Given the description of an element on the screen output the (x, y) to click on. 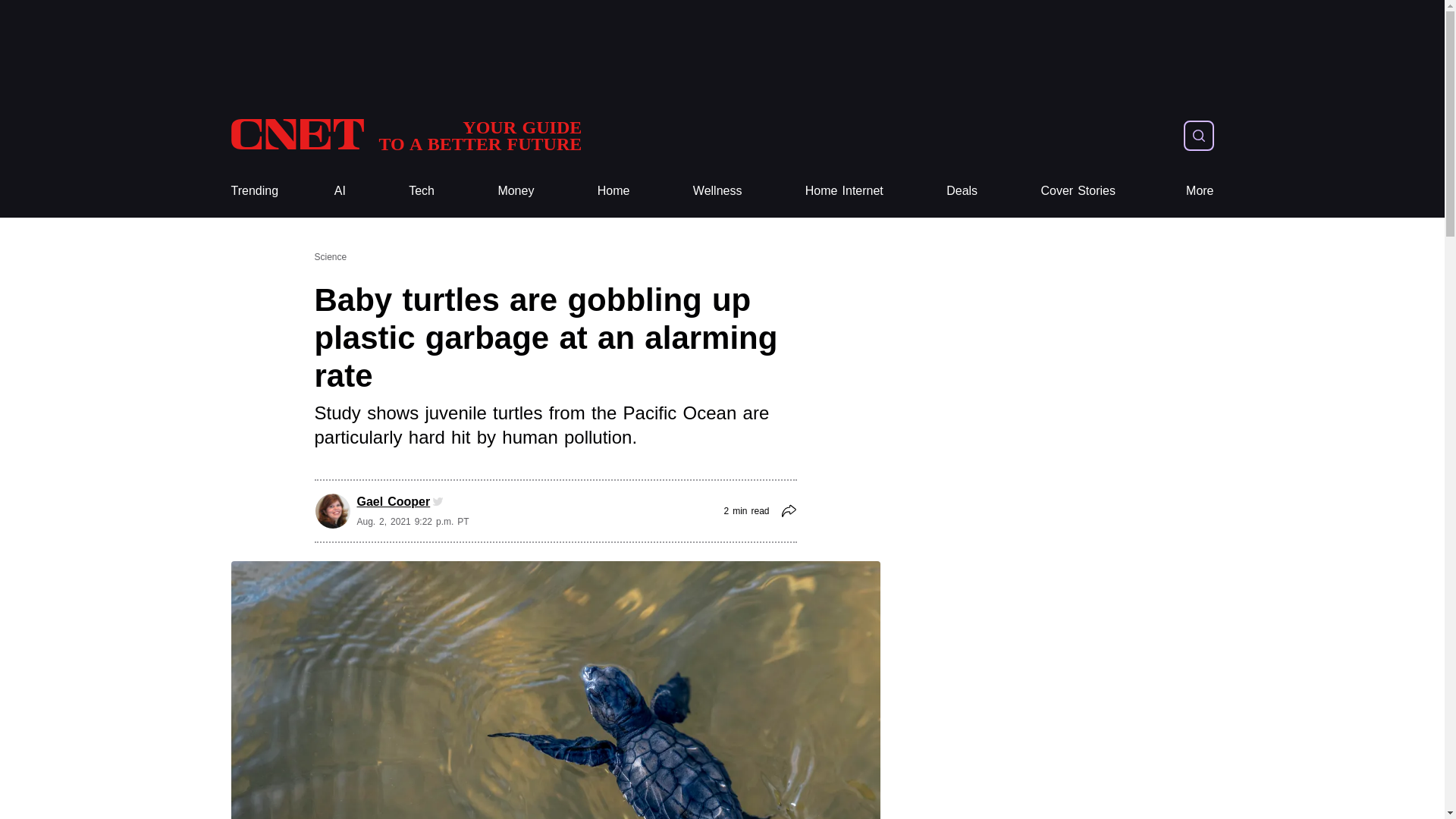
Trending (254, 190)
Money (515, 190)
Home Internet (844, 190)
Money (515, 190)
CNET (405, 135)
Trending (254, 190)
Tech (421, 190)
Home (613, 190)
Wellness (717, 190)
Cover Stories (1078, 190)
